Given the description of an element on the screen output the (x, y) to click on. 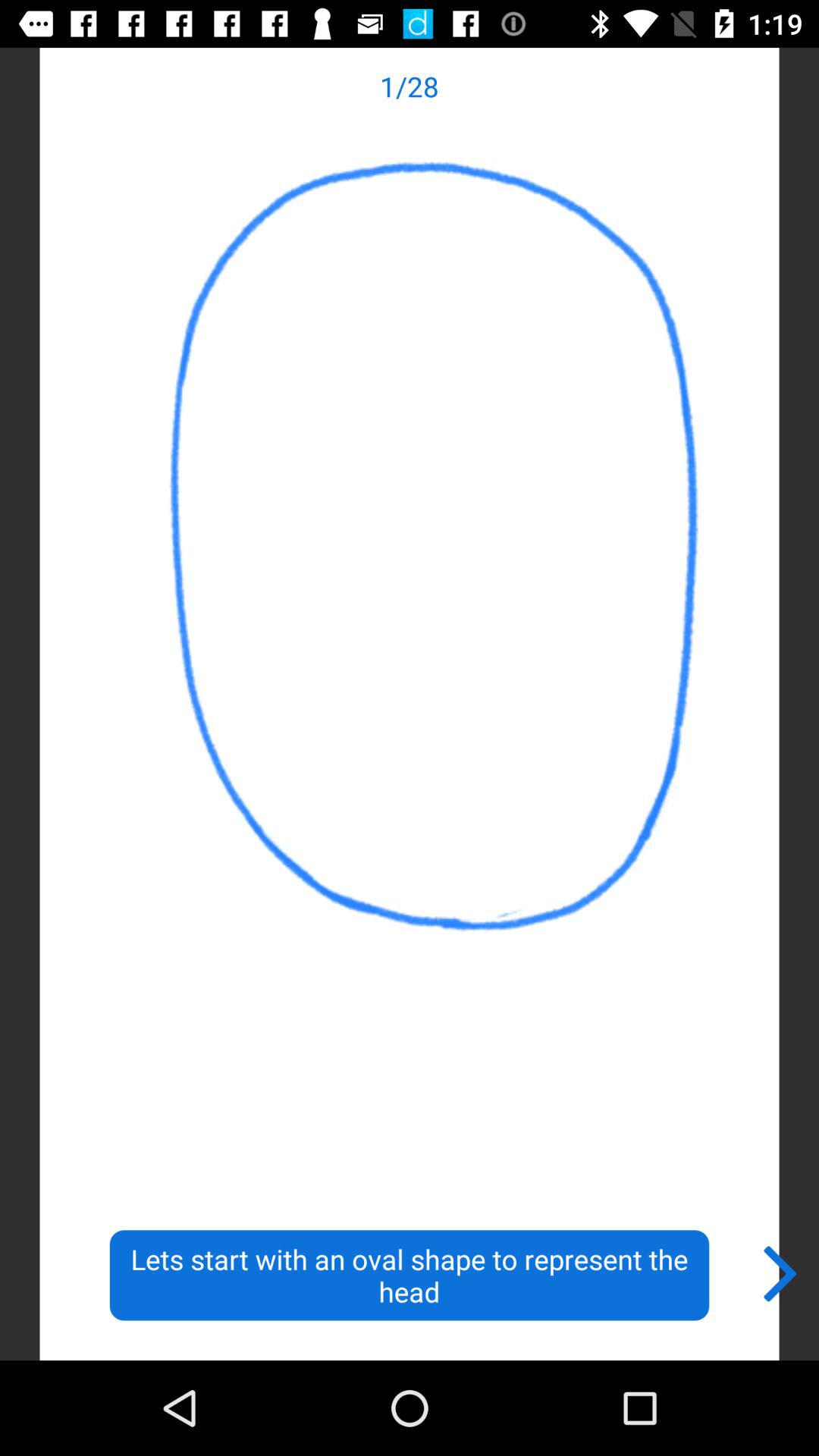
open icon to the right of lets start with (781, 1270)
